Given the description of an element on the screen output the (x, y) to click on. 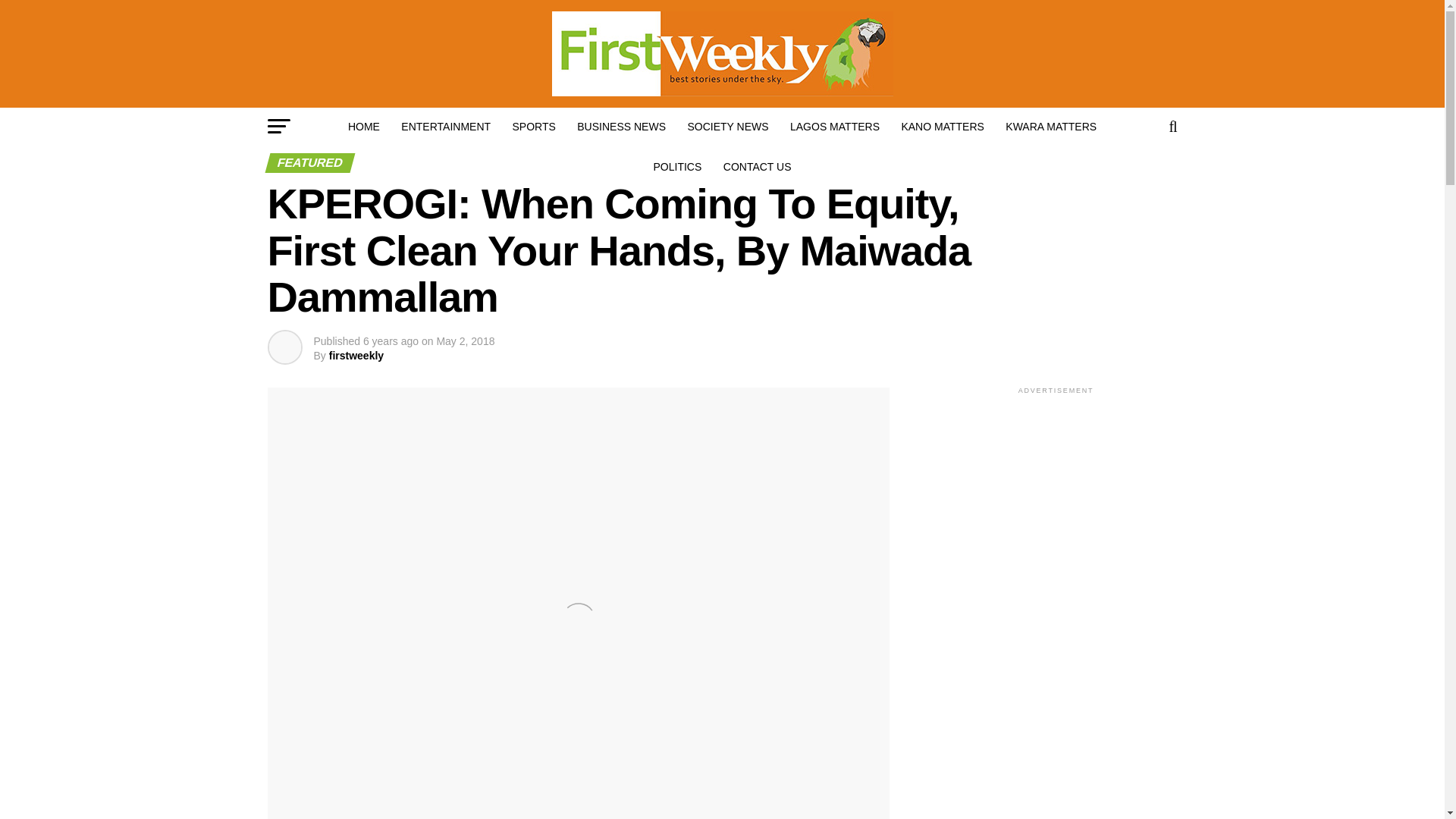
Posts by firstweekly (356, 355)
SOCIETY NEWS (727, 126)
SPORTS (533, 126)
CONTACT US (757, 166)
KANO MATTERS (941, 126)
firstweekly (356, 355)
ENTERTAINMENT (445, 126)
LAGOS MATTERS (834, 126)
BUSINESS NEWS (621, 126)
HOME (363, 126)
POLITICS (678, 166)
KWARA MATTERS (1050, 126)
